Given the description of an element on the screen output the (x, y) to click on. 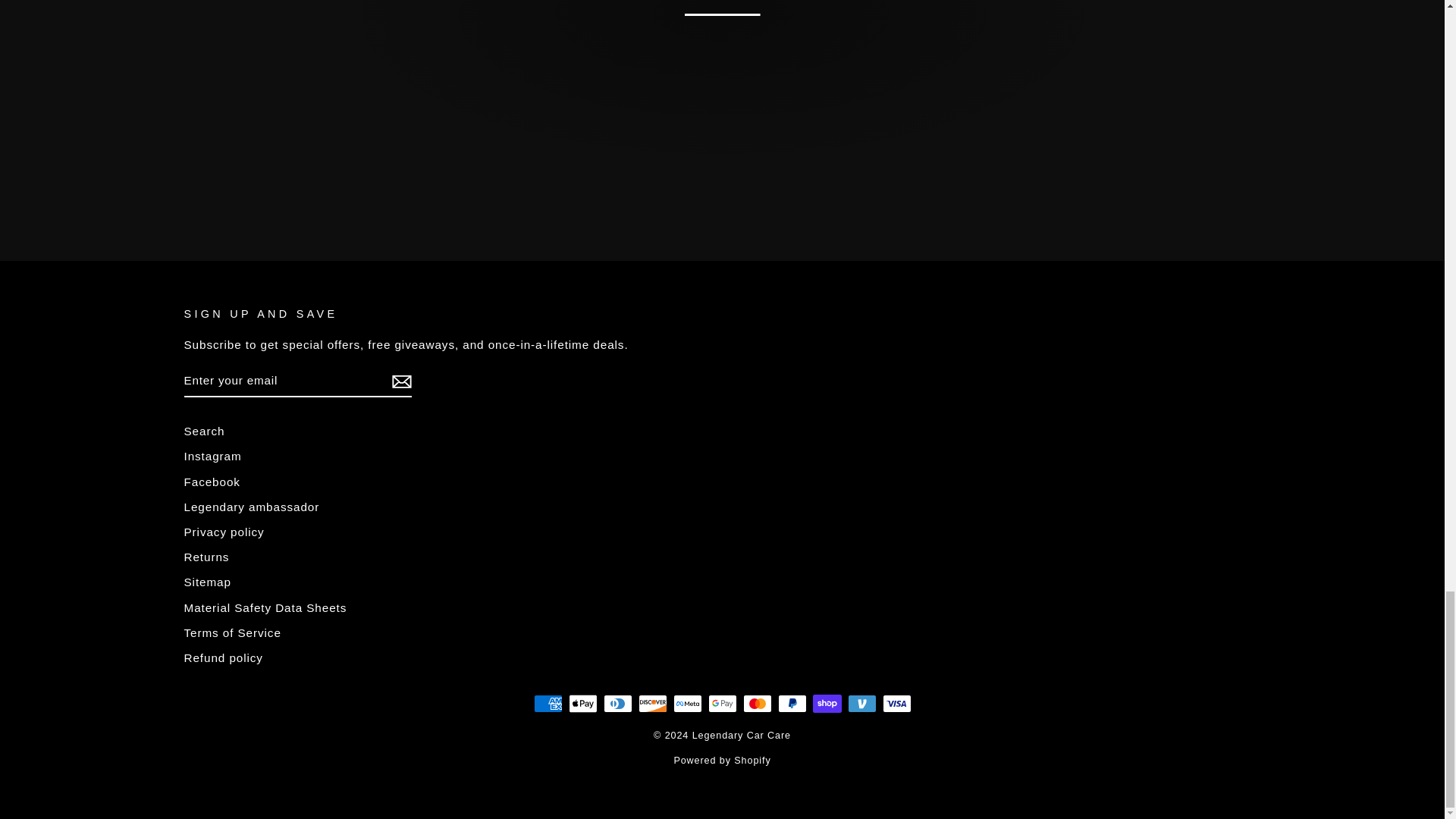
Google Pay (721, 703)
Meta Pay (686, 703)
Discover (652, 703)
Apple Pay (582, 703)
Diners Club (617, 703)
American Express (548, 703)
